Given the description of an element on the screen output the (x, y) to click on. 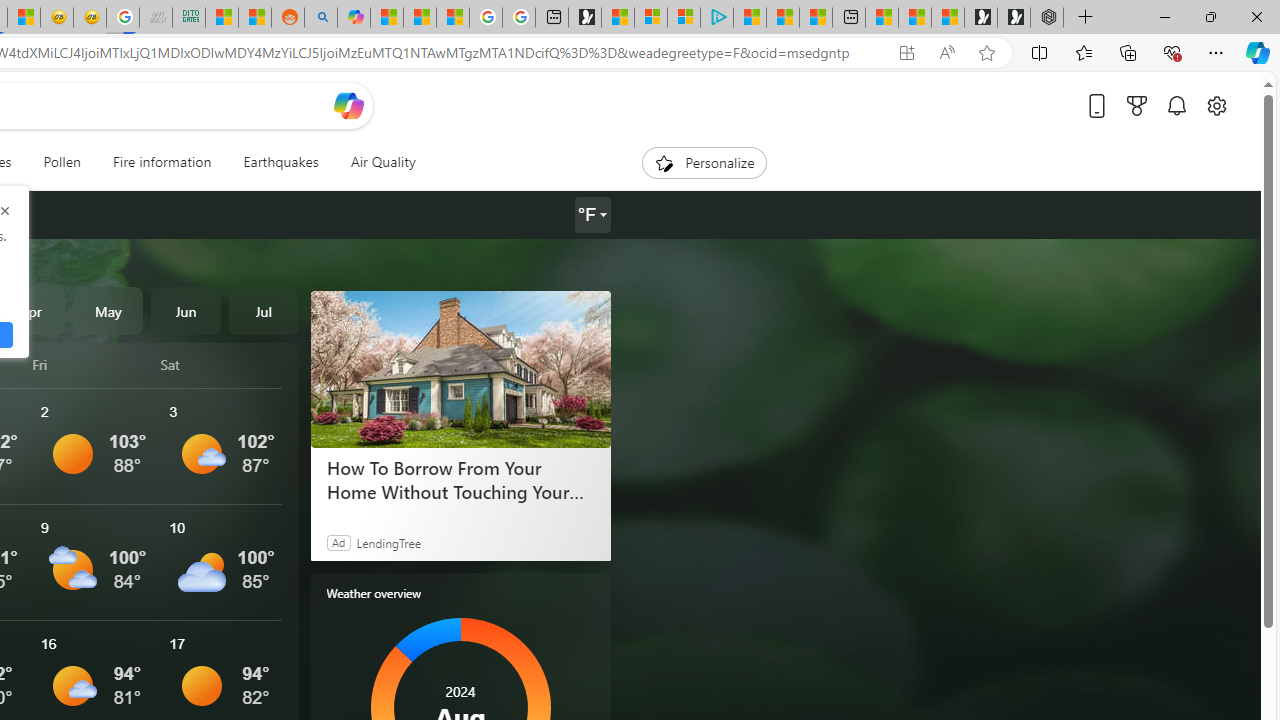
DITOGAMES AG Imprint (188, 17)
App available. Install Microsoft Start Weather (906, 53)
These 3 Stocks Pay You More Than 5% to Own Them (815, 17)
Utah sues federal government - Search (320, 17)
Microsoft Start Gaming (585, 17)
LendingTree (388, 542)
Nordace - Nordace Siena Is Not An Ordinary Backpack (1046, 17)
Fire information (162, 162)
See More Details (221, 561)
